Given the description of an element on the screen output the (x, y) to click on. 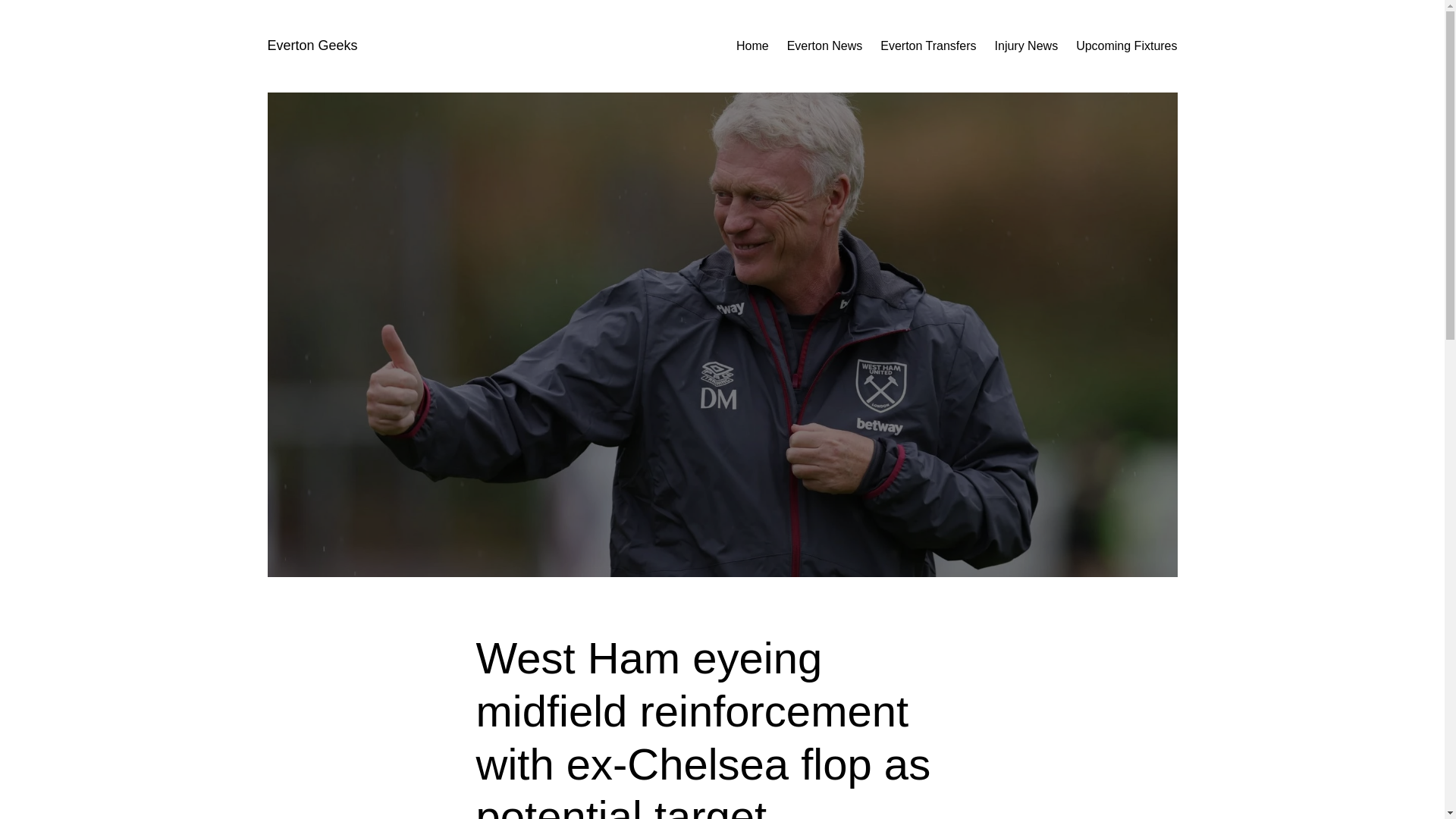
Injury News (1026, 46)
Upcoming Fixtures (1125, 46)
Home (752, 46)
Everton News (825, 46)
Everton Geeks (311, 45)
Everton Transfers (927, 46)
